Given the description of an element on the screen output the (x, y) to click on. 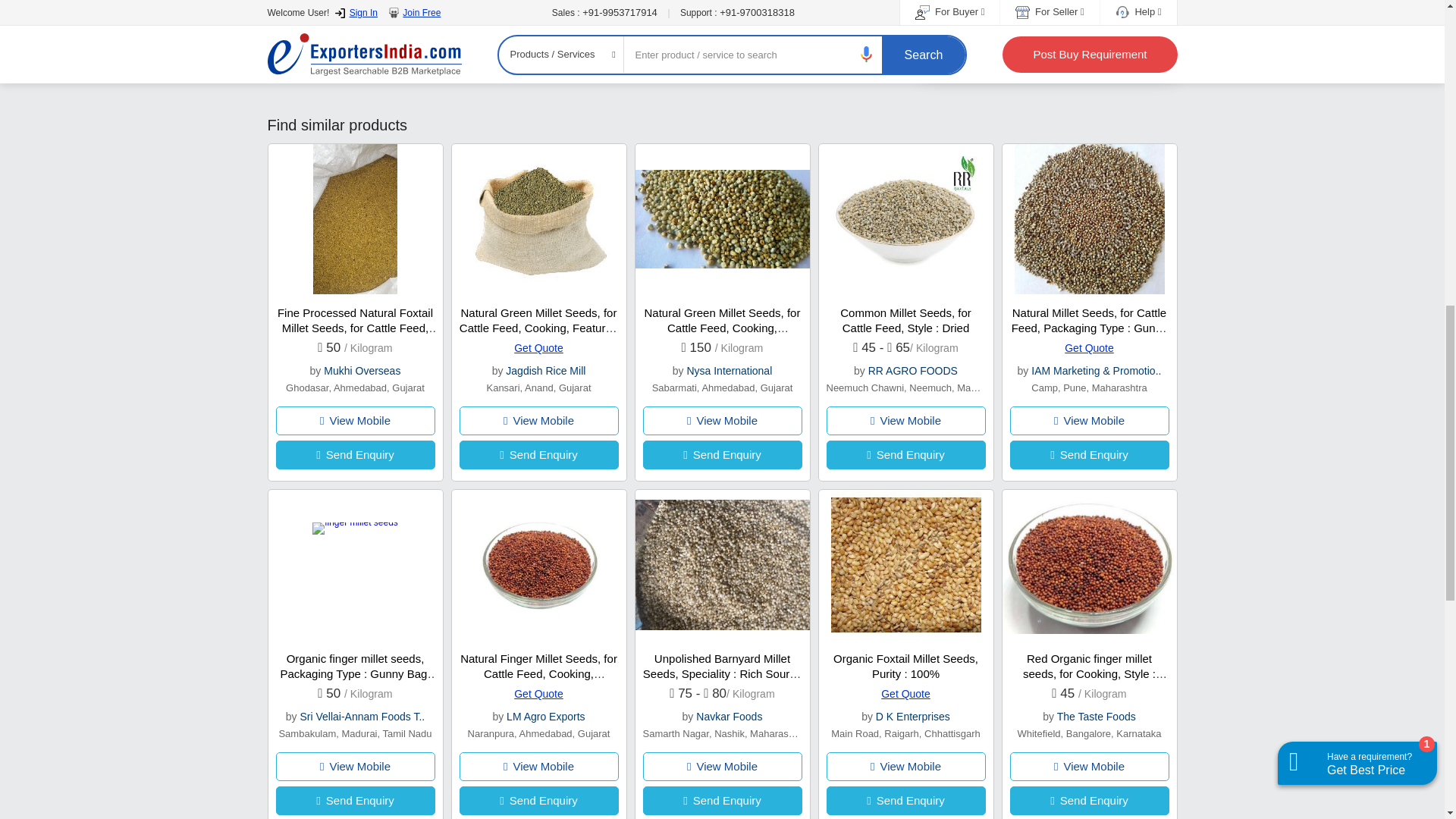
Red Organic finger millet seeds, for Cooking, Style : Dried (1095, 673)
Common Millet Seeds, for Cattle Feed, Style : Dried (905, 320)
